Given the description of an element on the screen output the (x, y) to click on. 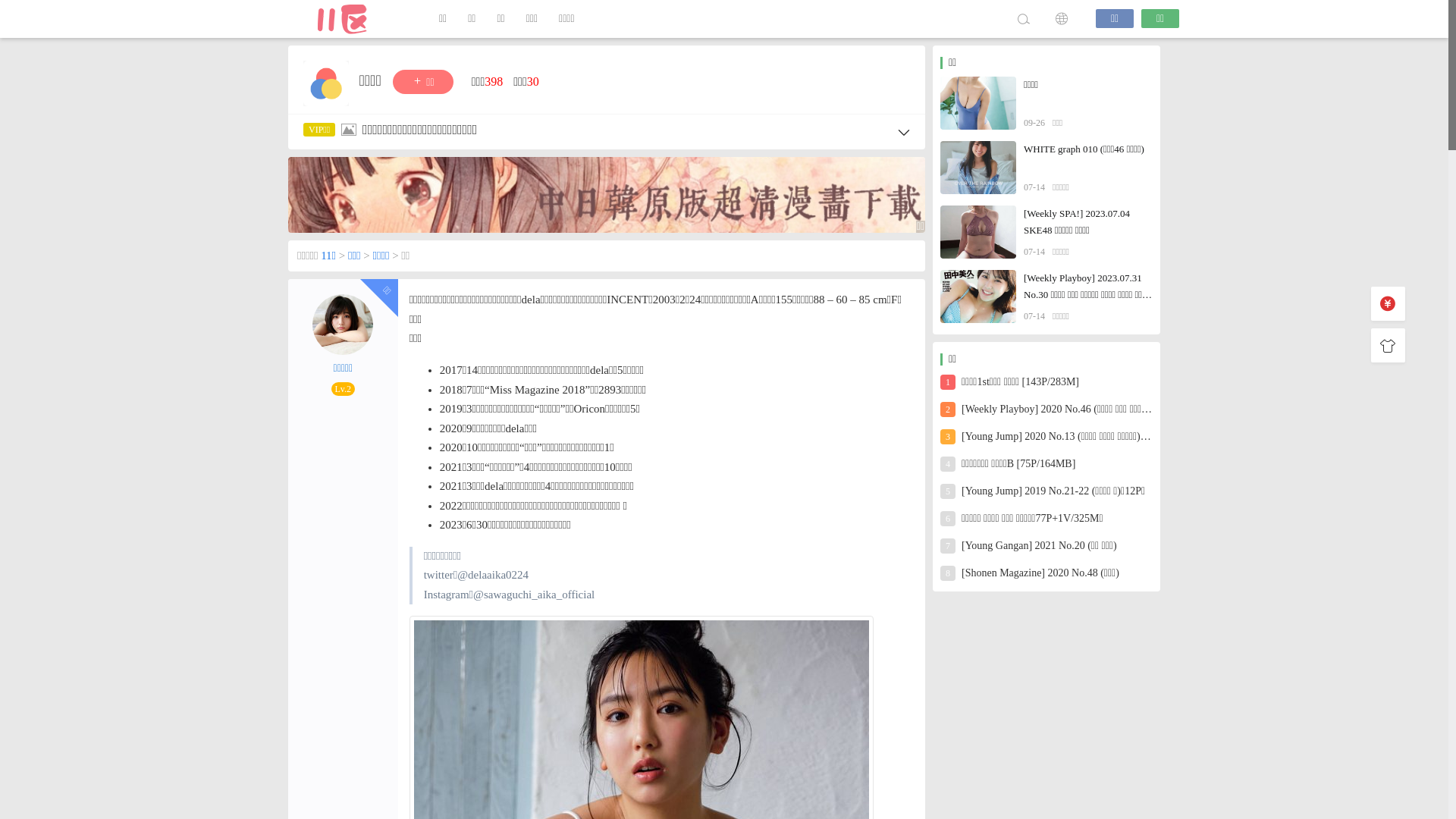
0 Element type: text (1388, 345)
0 Element type: text (1388, 303)
